Given the description of an element on the screen output the (x, y) to click on. 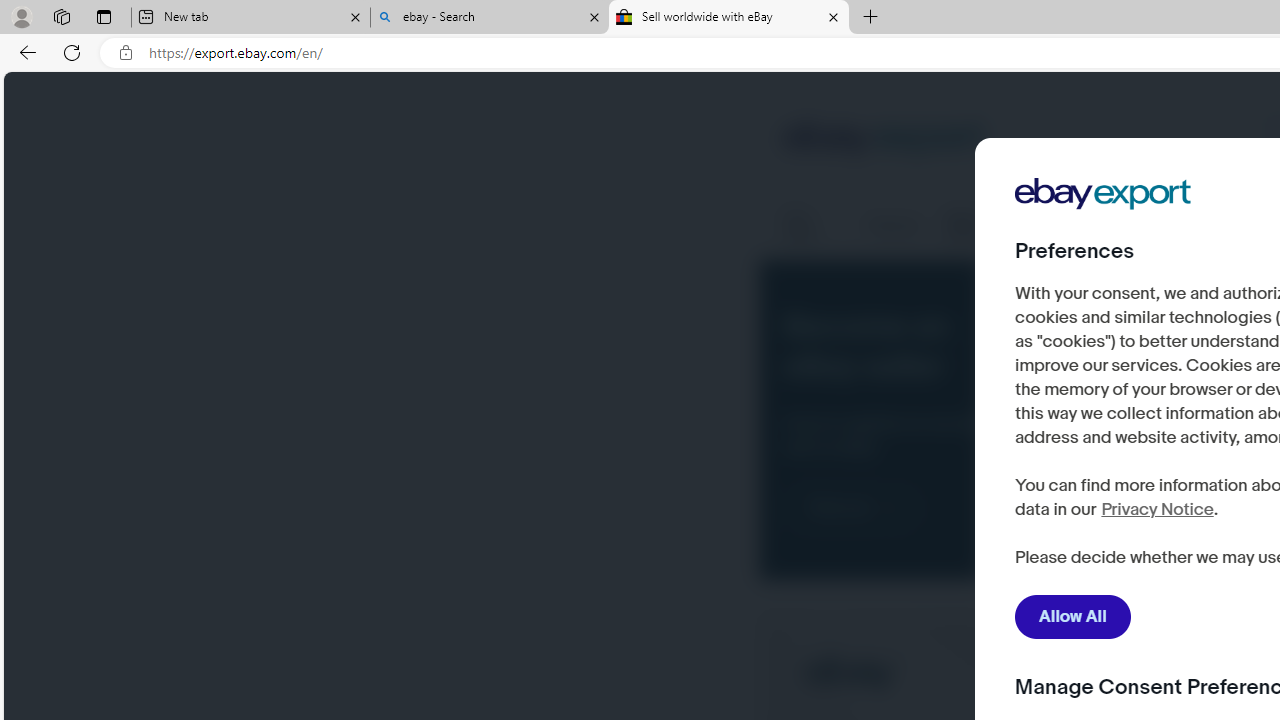
Company Logo (1103, 193)
Customise my choices (1135, 559)
Allow All (1073, 617)
Privacy Notice (1156, 510)
here (1109, 500)
Class: header__logo (883, 139)
